Given the description of an element on the screen output the (x, y) to click on. 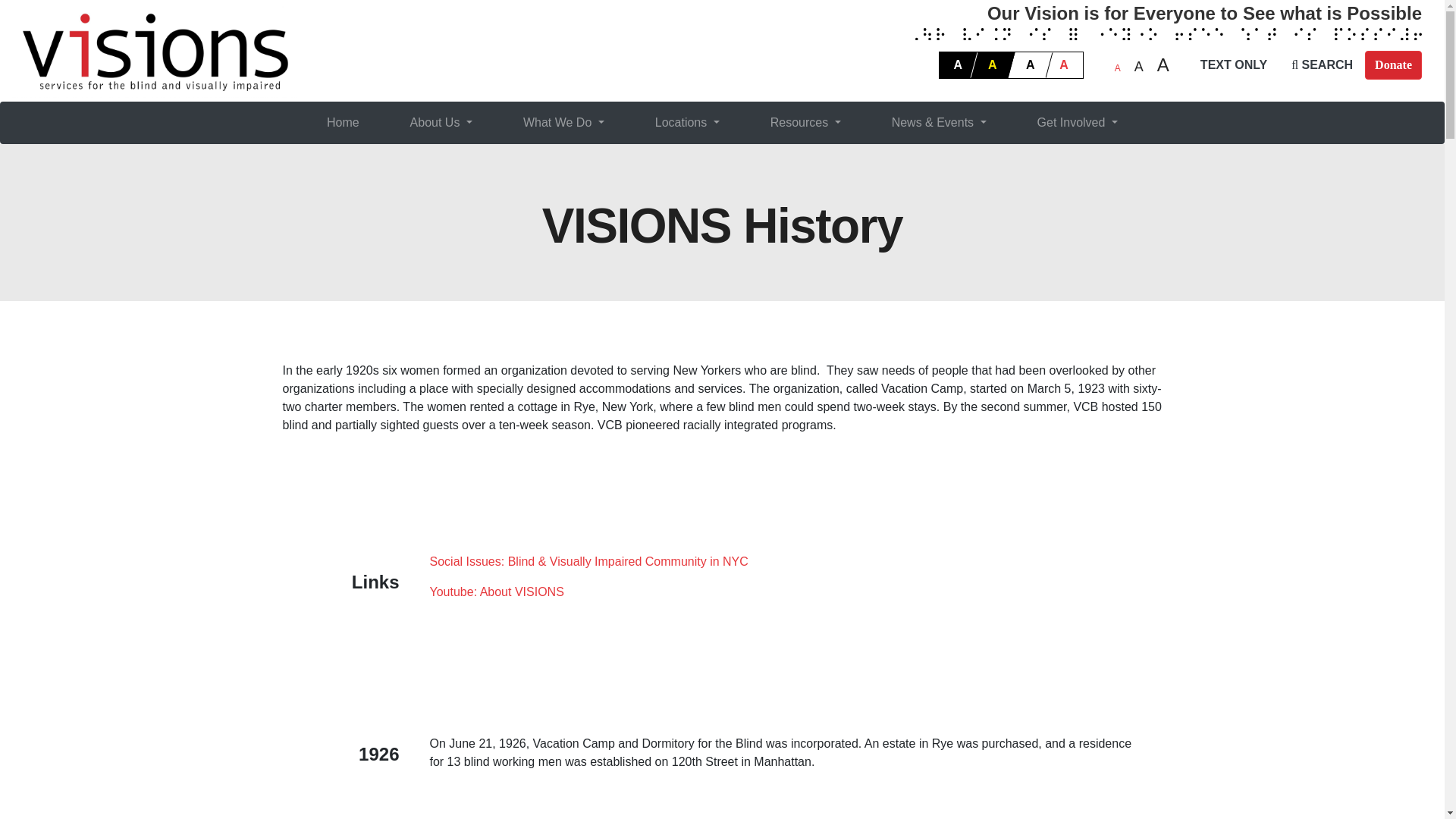
A (1064, 64)
Donate (1393, 64)
What We Do (563, 122)
A (957, 64)
About Us (441, 122)
TEXT ONLY (1233, 64)
A (1026, 64)
Home (342, 122)
SEARCH (1322, 64)
